Given the description of an element on the screen output the (x, y) to click on. 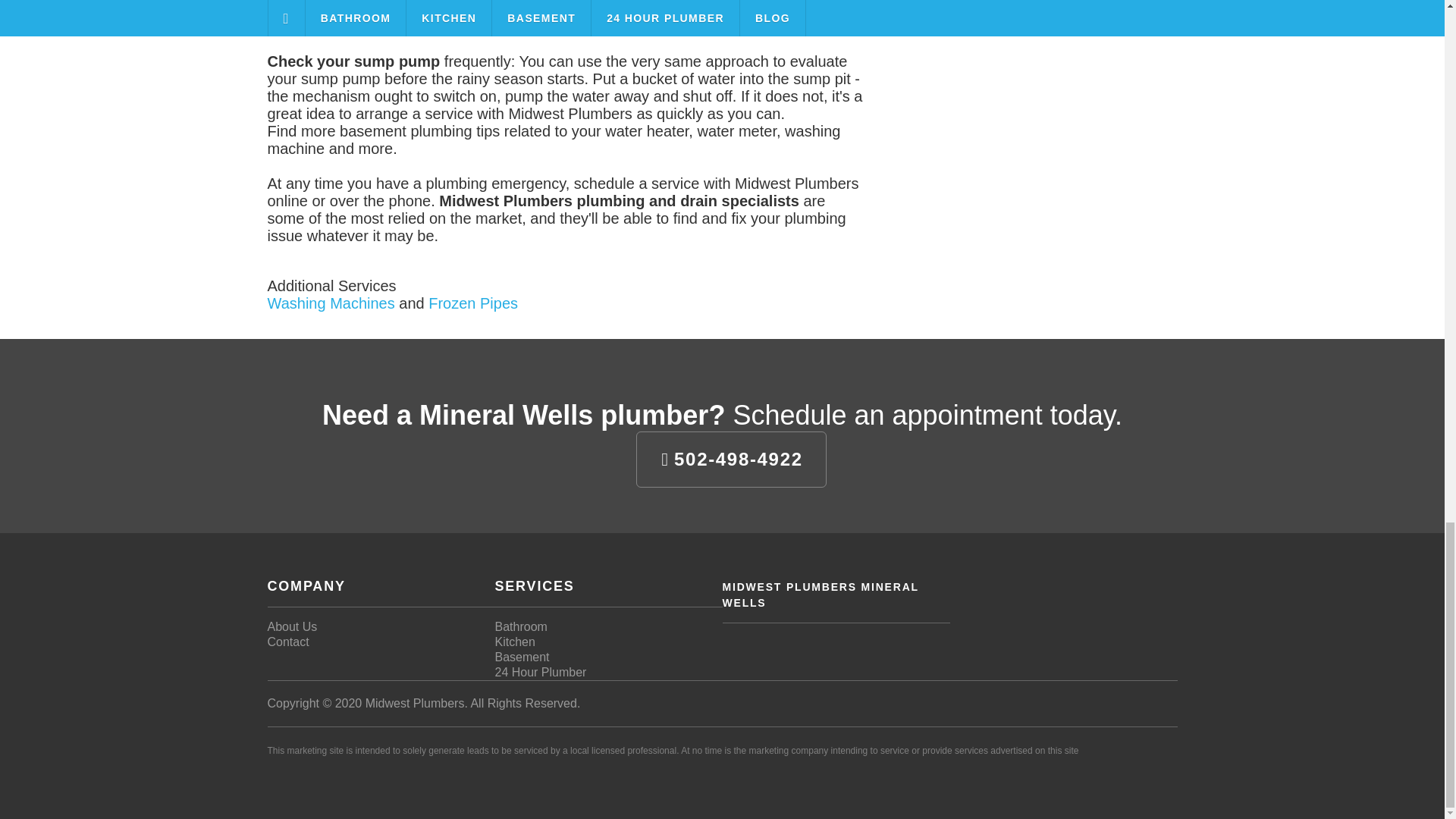
Basement (521, 656)
Frozen Pipes (473, 303)
24 Hour Plumber (540, 671)
Bathroom (521, 626)
Kitchen (514, 641)
Contact (287, 641)
Washing Machines (330, 303)
502-498-4922 (730, 459)
About Us (291, 626)
